Given the description of an element on the screen output the (x, y) to click on. 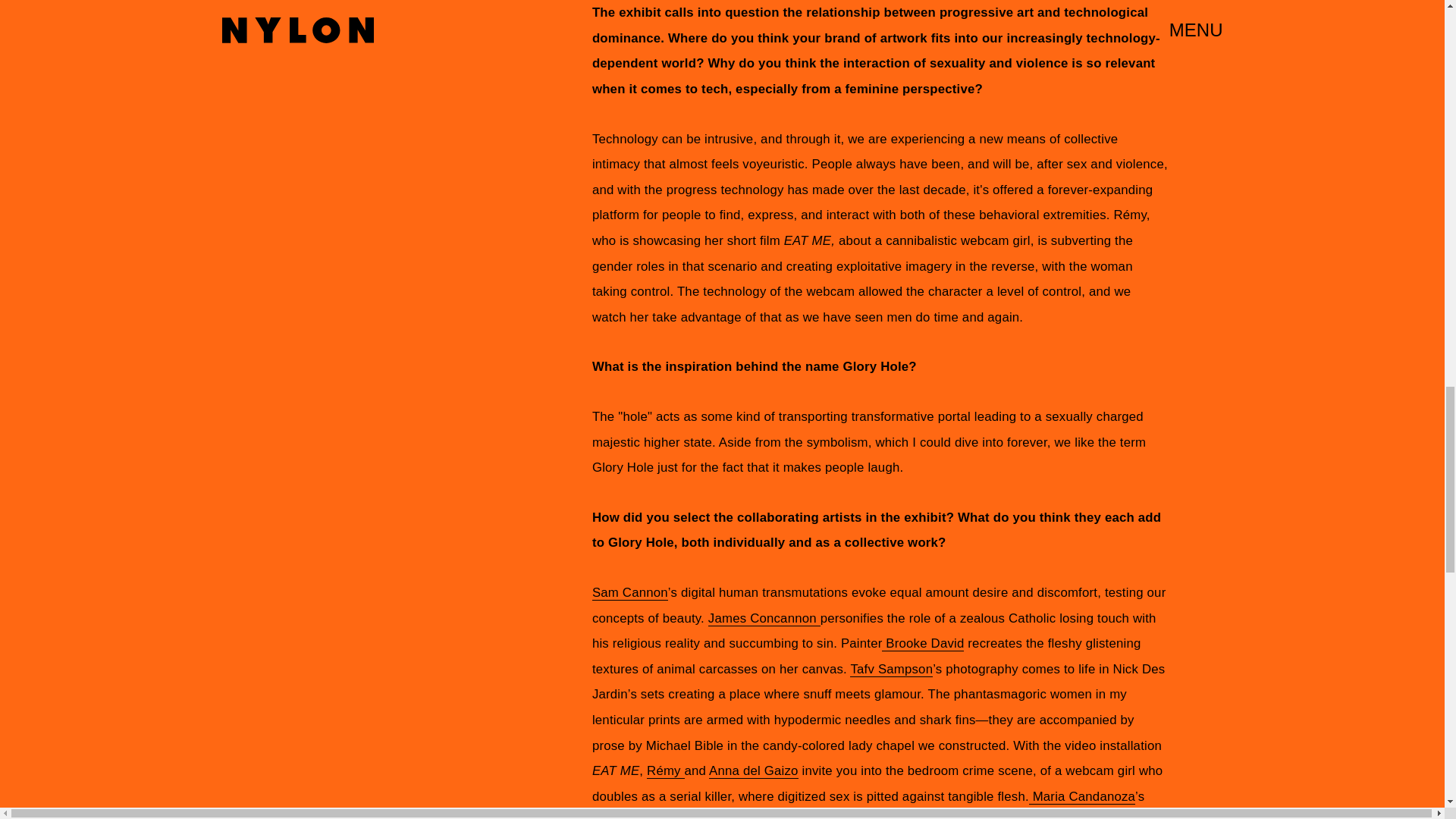
Tafv Sampson (891, 669)
Anna del Gaizo (753, 770)
James Concannon (764, 618)
Brooke David (922, 643)
Sam Cannon (630, 592)
Maria Candanoza (1082, 796)
